Given the description of an element on the screen output the (x, y) to click on. 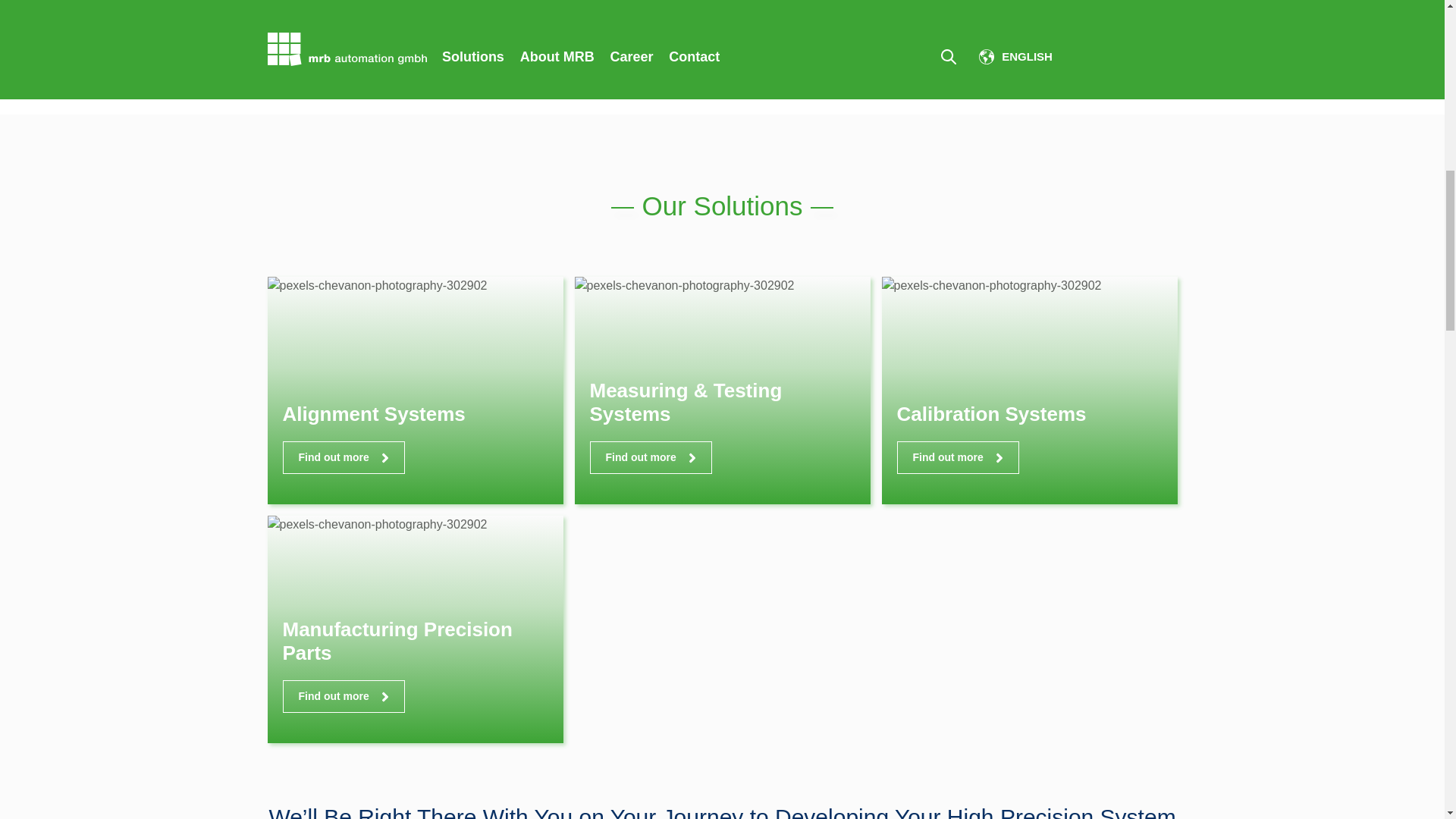
Find out more (650, 457)
Find out more (956, 457)
Find out more (343, 457)
Find out more (343, 696)
